Given the description of an element on the screen output the (x, y) to click on. 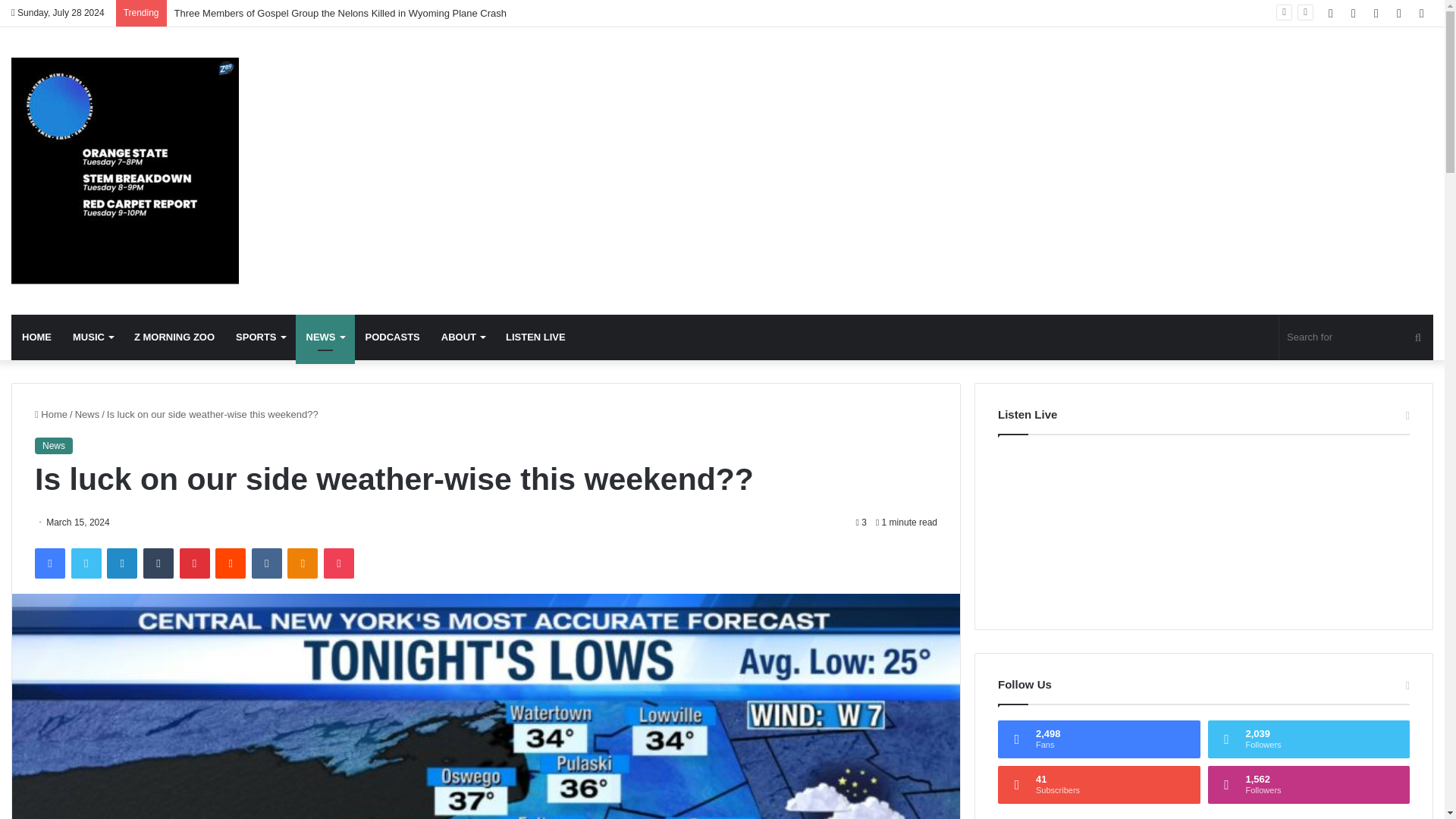
Home (50, 414)
Pinterest (194, 562)
HOME (36, 337)
Search for (1355, 337)
Odnoklassniki (301, 562)
News (87, 414)
Facebook (49, 562)
Pocket (338, 562)
VKontakte (266, 562)
ABOUT (462, 337)
LinkedIn (121, 562)
SPORTS (260, 337)
LISTEN LIVE (535, 337)
Reddit (230, 562)
